Given the description of an element on the screen output the (x, y) to click on. 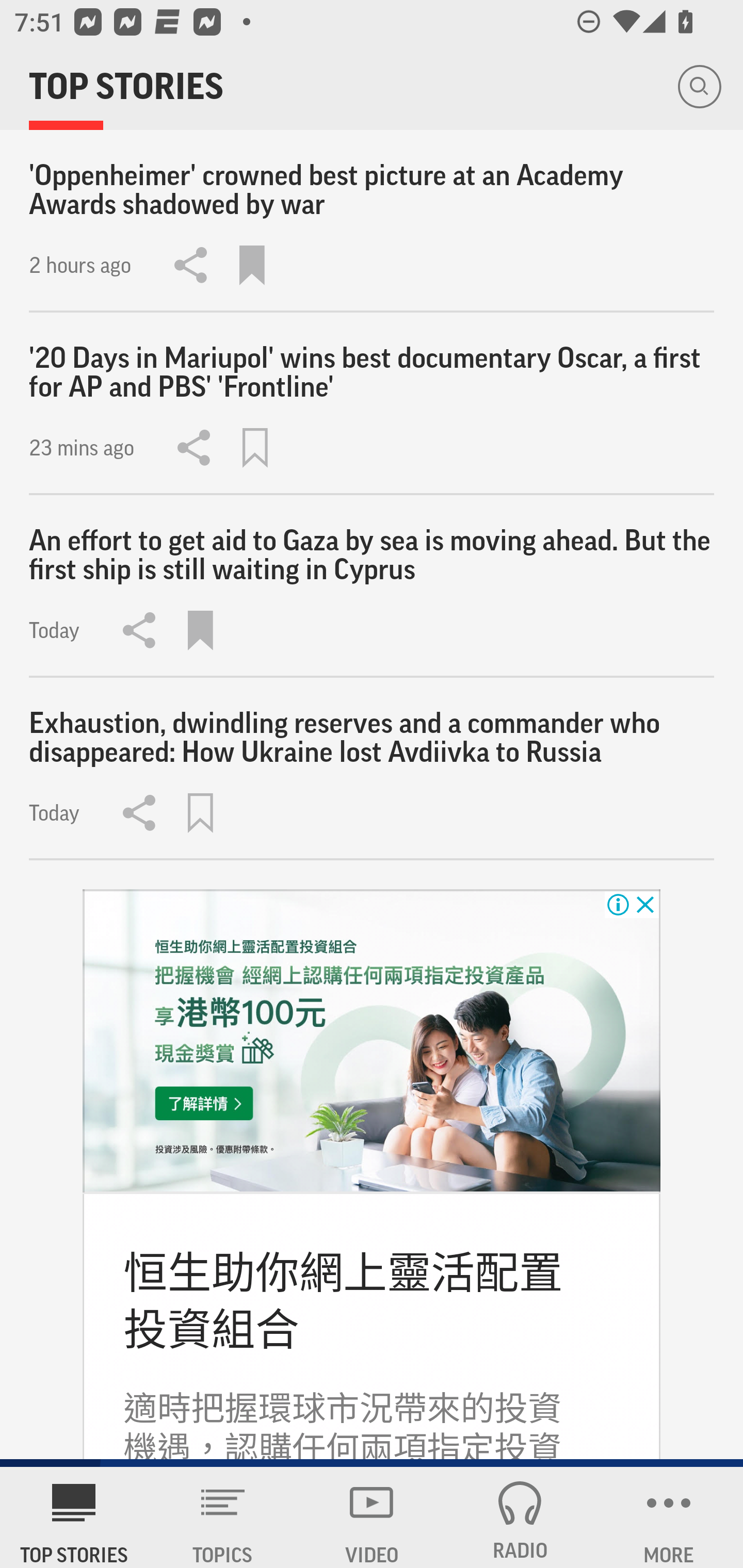
B31268930 (371, 1041)
恒生助你網上靈活配置 投資組合 恒生助你網上靈活配置 投資組合 (342, 1301)
AP News TOP STORIES (74, 1517)
TOPICS (222, 1517)
VIDEO (371, 1517)
RADIO (519, 1517)
MORE (668, 1517)
